Given the description of an element on the screen output the (x, y) to click on. 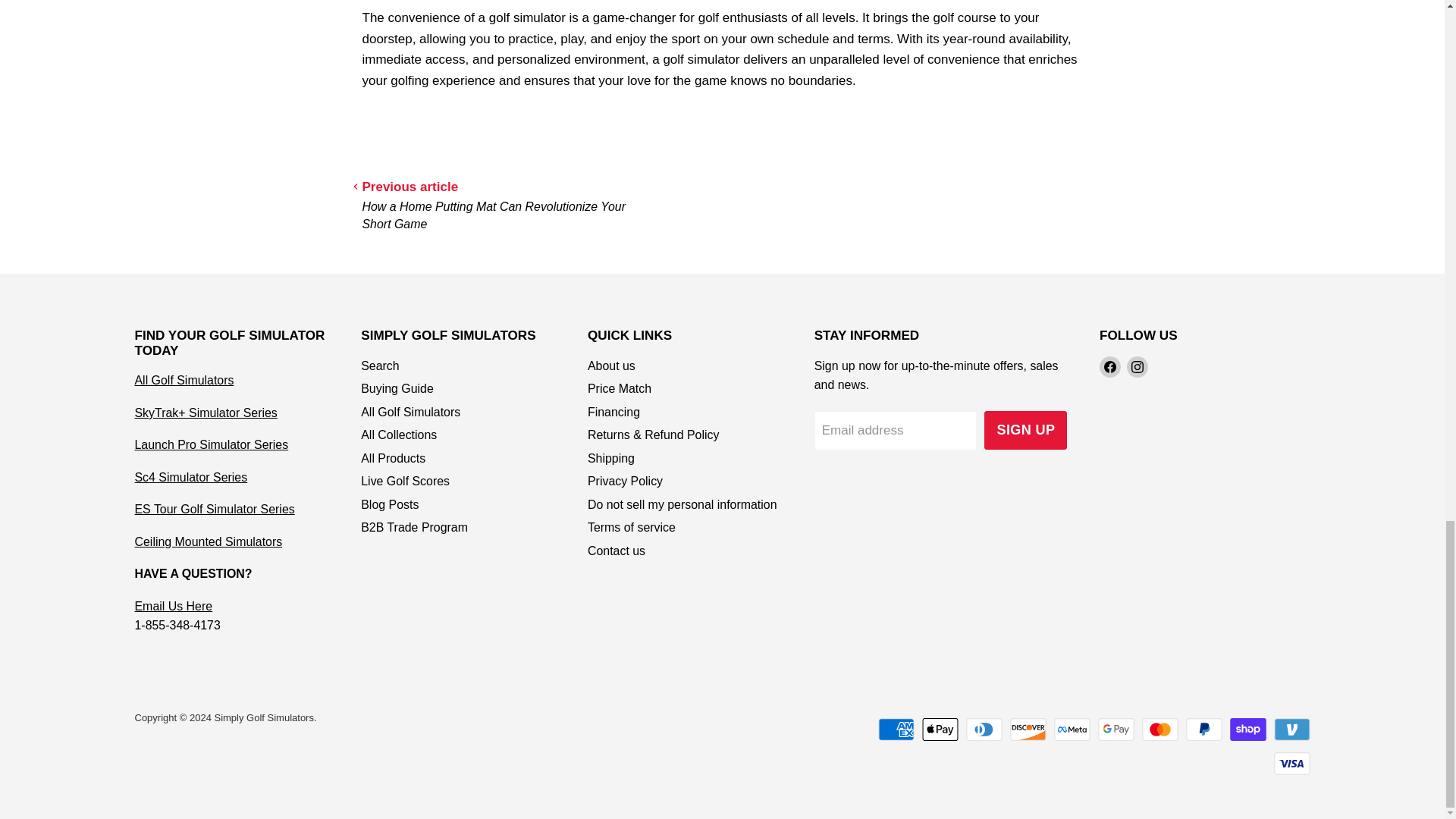
Sc4 Series (191, 477)
Apple Pay (939, 729)
Facebook (1110, 366)
American Express (895, 729)
Google Pay (1115, 729)
Diners Club (984, 729)
Instagram (1137, 366)
Overhead Mounted Launch Monitors (208, 541)
Discover (1028, 729)
Meta Pay (1072, 729)
